Given the description of an element on the screen output the (x, y) to click on. 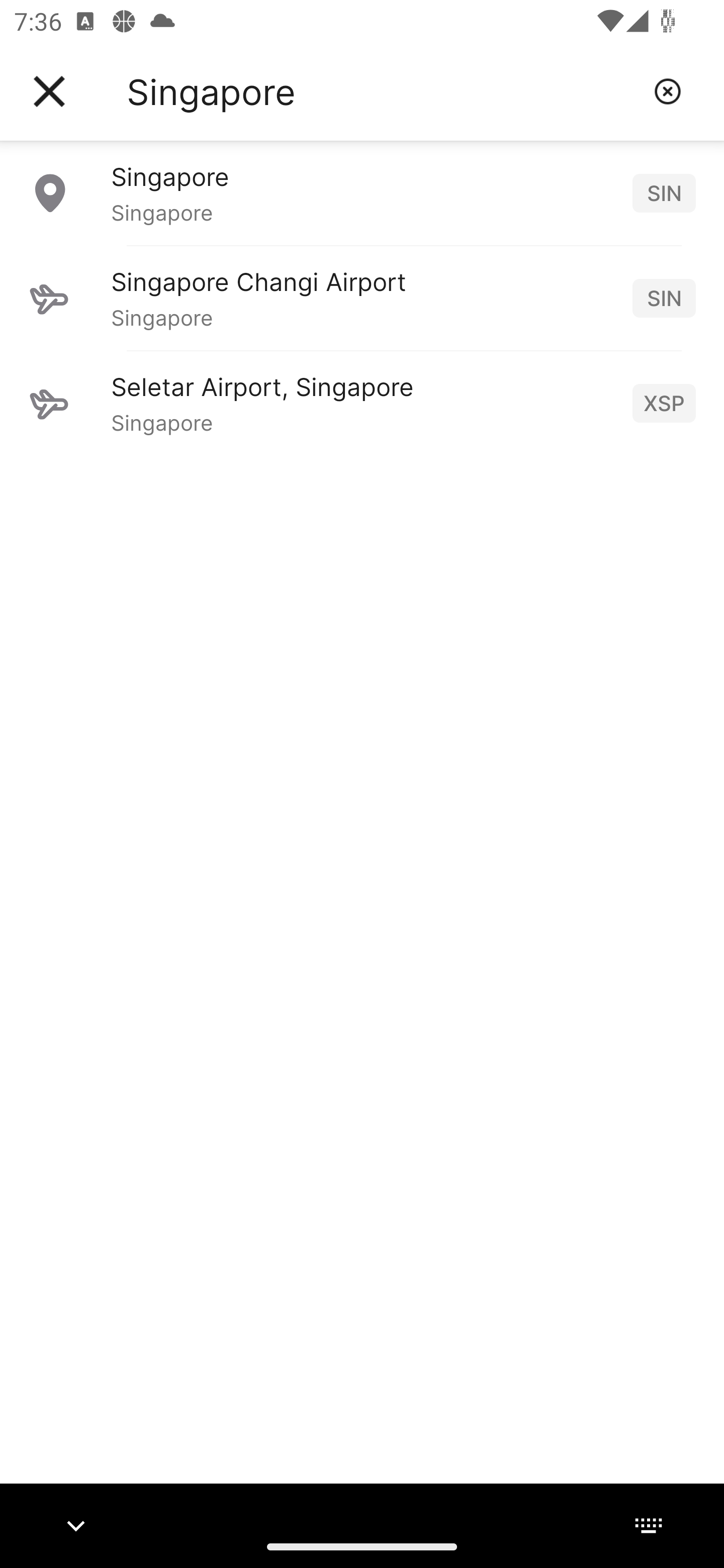
Singapore (382, 91)
Singapore Singapore SIN (362, 192)
Singapore Changi Airport Singapore SIN (362, 297)
Seletar Airport, Singapore Singapore XSP (362, 402)
